Given the description of an element on the screen output the (x, y) to click on. 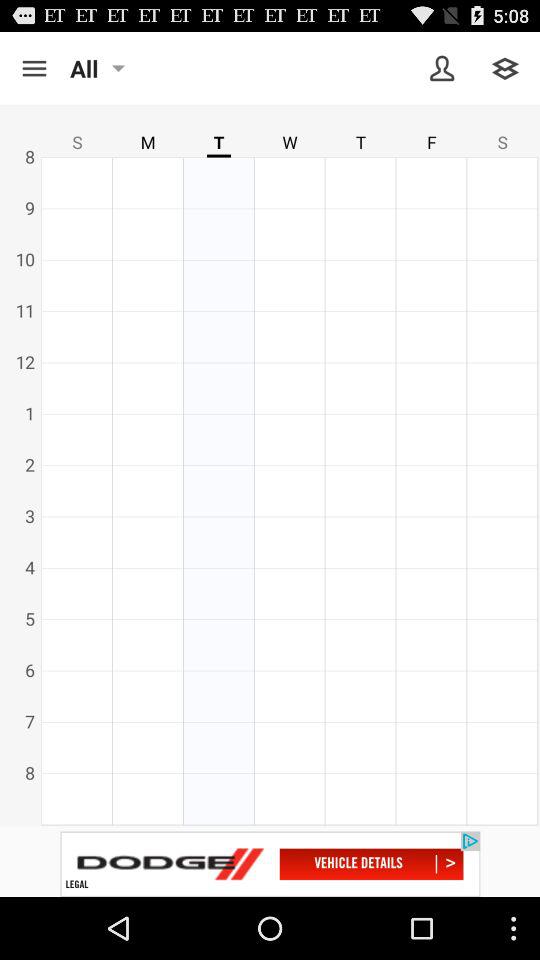
open menu (34, 68)
